Given the description of an element on the screen output the (x, y) to click on. 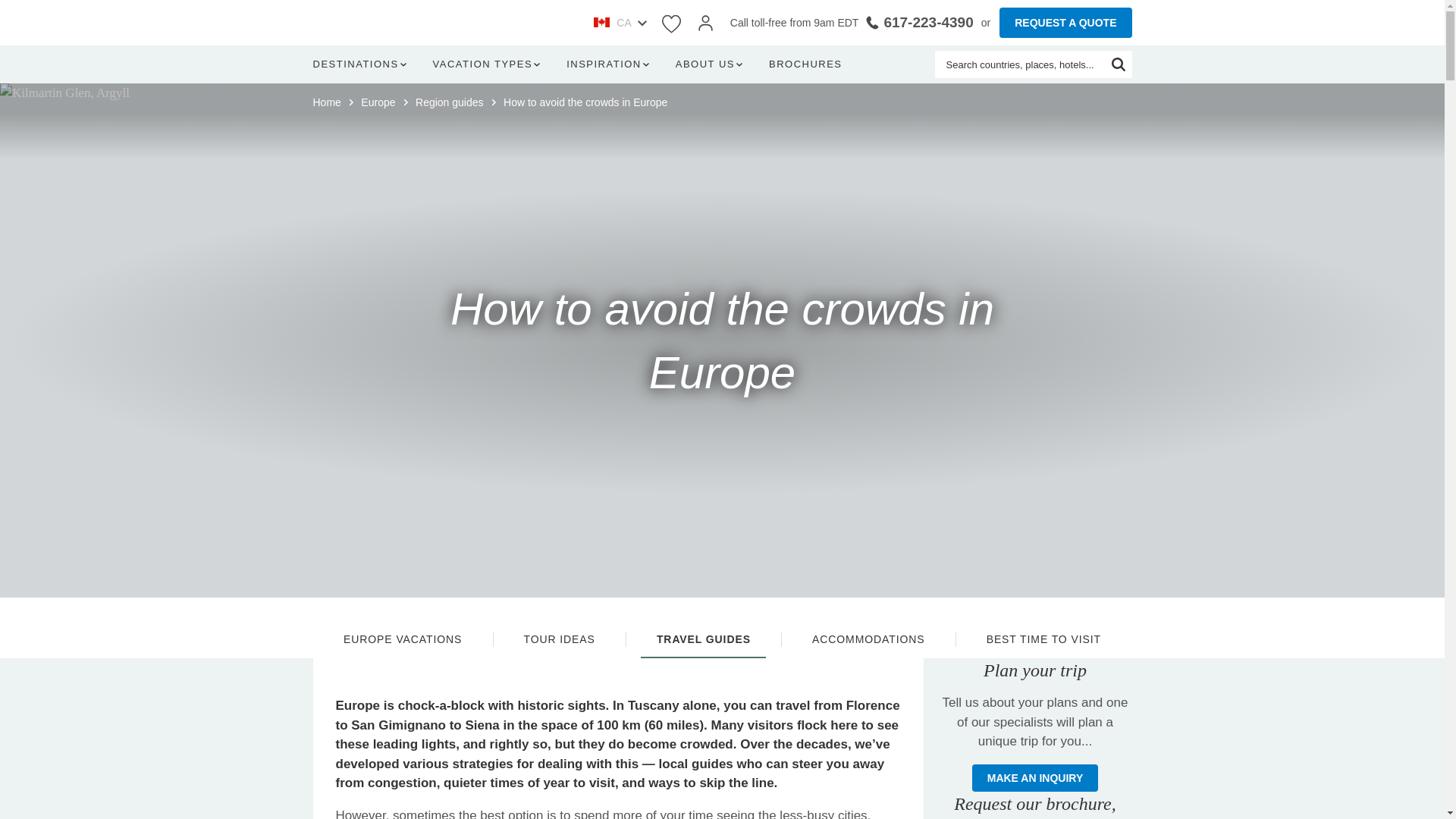
REQUEST A QUOTE (1064, 22)
CA (619, 22)
DESTINATIONS (363, 64)
